Given the description of an element on the screen output the (x, y) to click on. 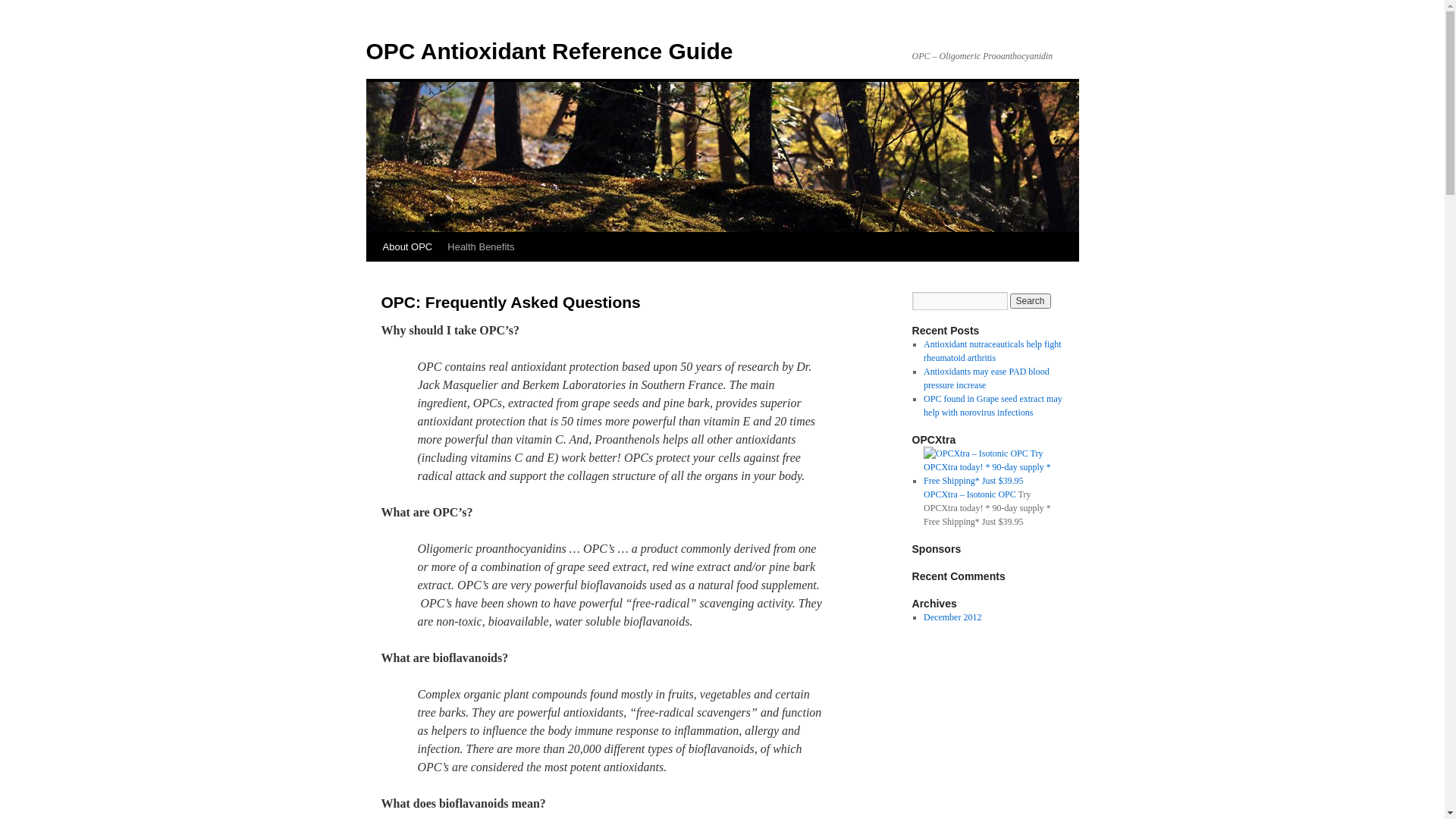
Antioxidant nutraceauticals help fight rheumatoid arthritis Element type: text (992, 350)
Antioxidants may ease PAD blood pressure increase Element type: text (986, 378)
OPC Antioxidant Reference Guide Element type: text (548, 50)
Search Element type: text (1030, 300)
About OPC Element type: text (406, 246)
December 2012 Element type: text (952, 616)
Health Benefits Element type: text (480, 246)
Skip to content Element type: text (372, 275)
